Given the description of an element on the screen output the (x, y) to click on. 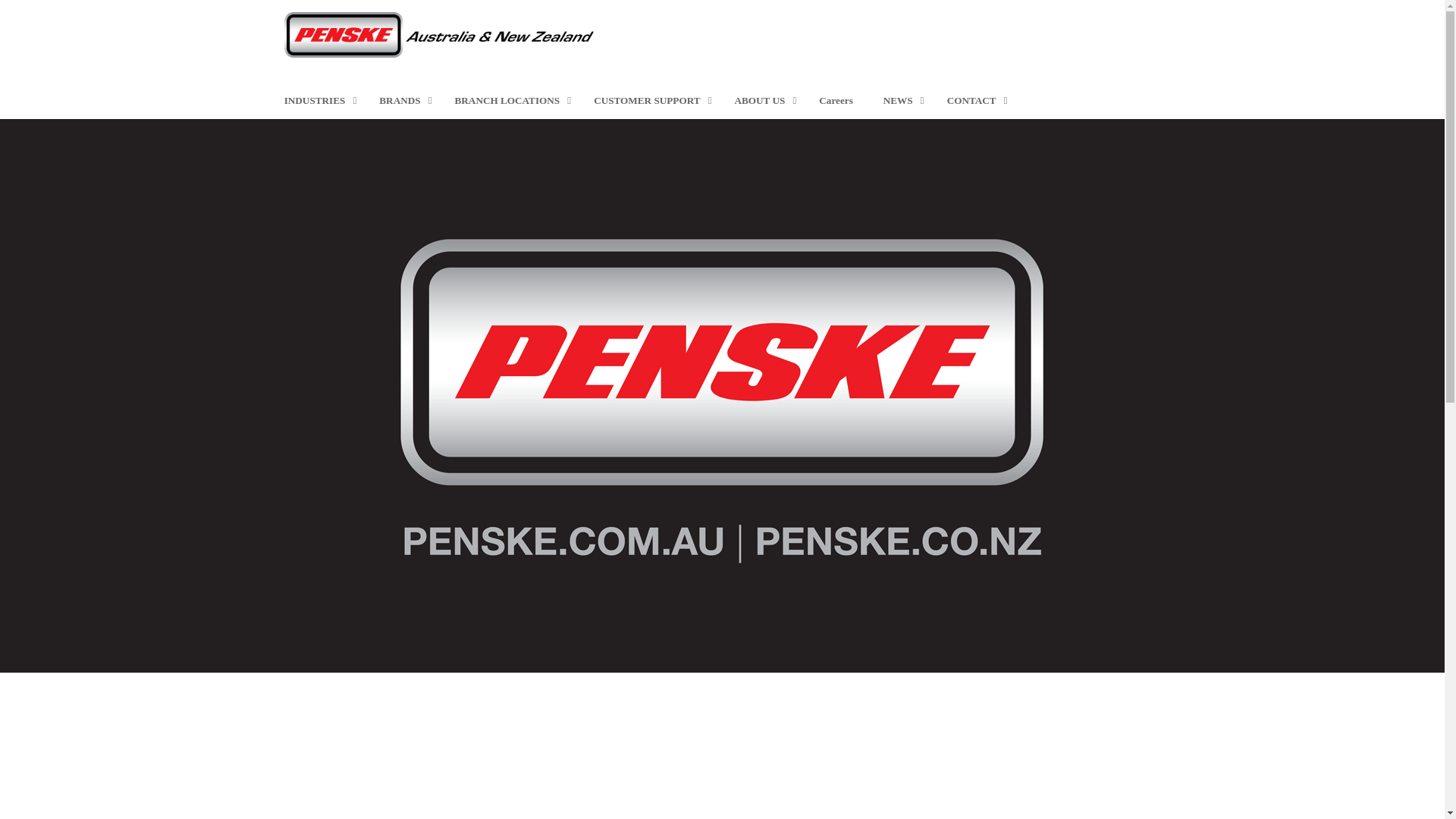
BRANDS (401, 99)
INDUSTRIES (317, 99)
BRANCH LOCATIONS (509, 99)
CUSTOMER SUPPORT (648, 99)
Penske Australia (438, 33)
